Given the description of an element on the screen output the (x, y) to click on. 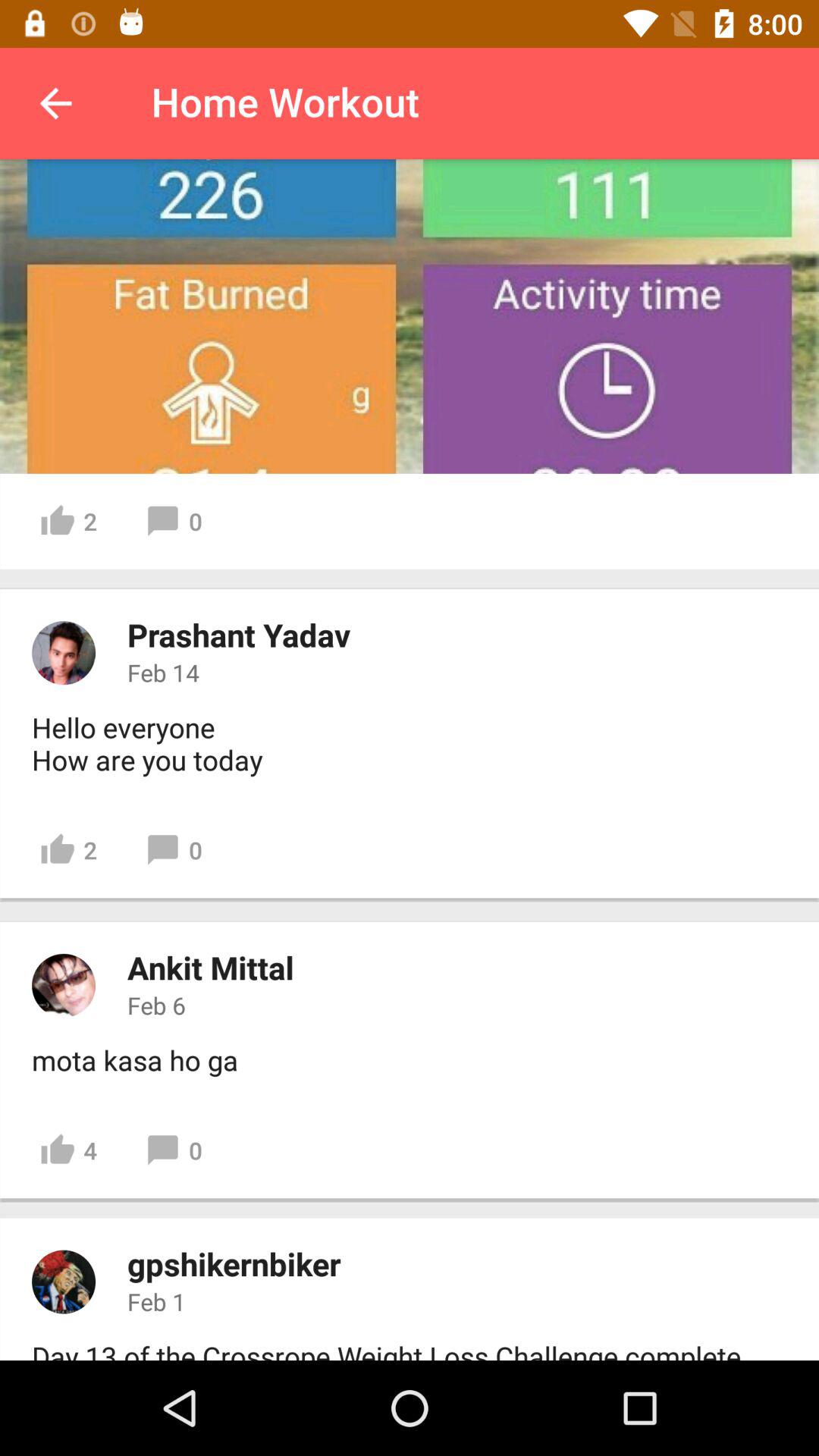
go to context image (63, 1281)
